Given the description of an element on the screen output the (x, y) to click on. 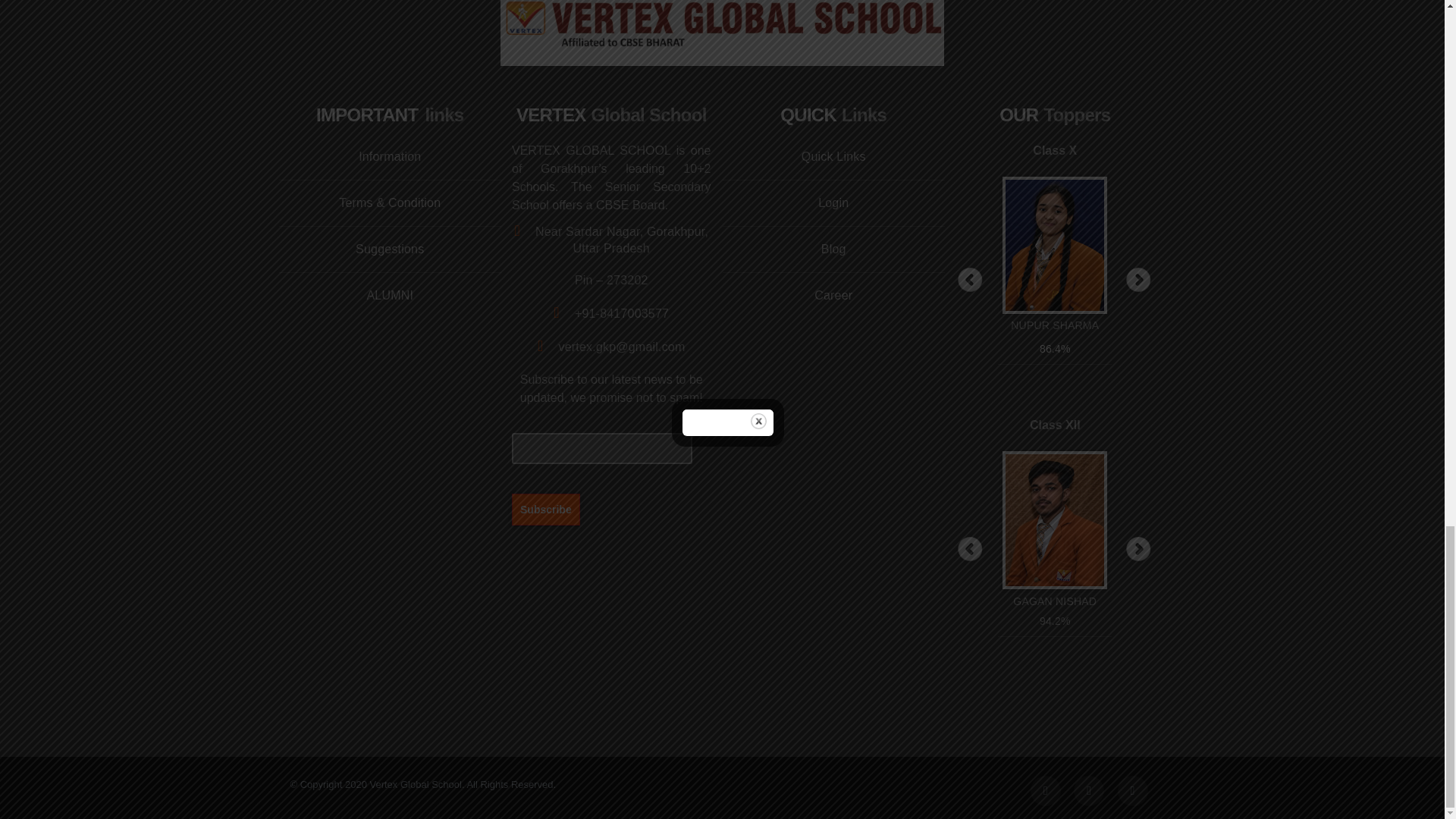
Subscribe (545, 508)
